Given the description of an element on the screen output the (x, y) to click on. 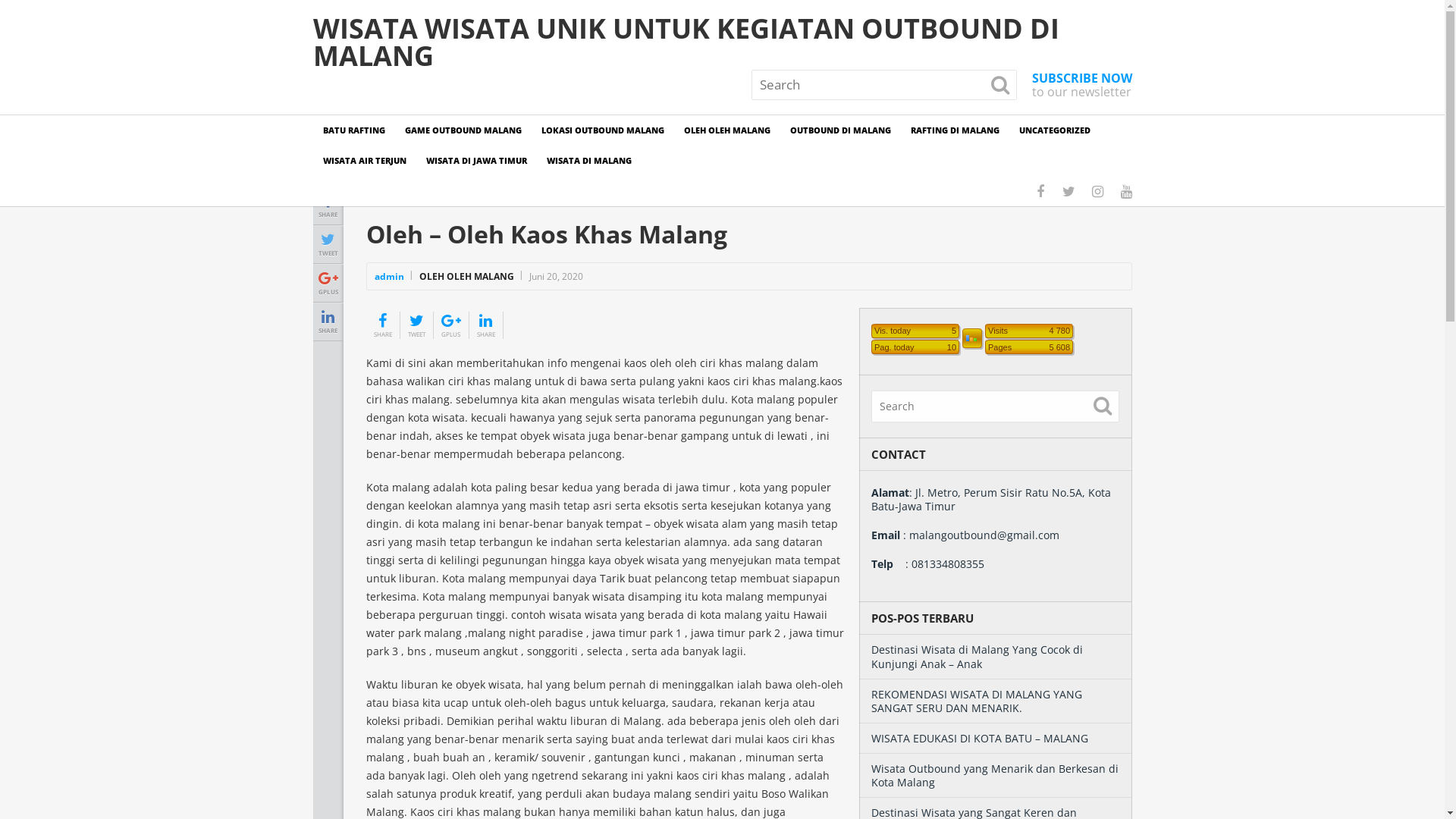
BATU RAFTING Element type: text (353, 130)
WISATA DI JAWA TIMUR Element type: text (475, 160)
SHARE Element type: text (485, 324)
OLEH OLEH MALANG Element type: text (465, 275)
TWEET Element type: text (327, 243)
WISATA WISATA UNIK UNTUK KEGIATAN OUTBOUND DI MALANG Element type: text (721, 42)
OLEH OLEH MALANG Element type: text (726, 130)
WISATA AIR TERJUN Element type: text (363, 160)
admin Element type: text (389, 275)
SUBSCRIBE NOW to our newsletter Element type: text (1081, 84)
REKOMENDASI WISATA DI MALANG YANG SANGAT SERU DAN MENARIK. Element type: text (975, 701)
GPLUS Element type: text (327, 281)
WISATA DI MALANG Element type: text (588, 160)
SHARE Element type: text (327, 320)
SHARE Element type: text (382, 324)
OUTBOUND DI MALANG Element type: text (839, 130)
LOKASI OUTBOUND MALANG Element type: text (601, 130)
RAFTING DI MALANG Element type: text (954, 130)
Wisata Outbound yang Menarik dan Berkesan di Kota Malang Element type: text (993, 775)
SHARE Element type: text (327, 204)
TWEET Element type: text (416, 324)
GPLUS Element type: text (451, 324)
GAME OUTBOUND MALANG Element type: text (462, 130)
UNCATEGORIZED Element type: text (1053, 130)
